Given the description of an element on the screen output the (x, y) to click on. 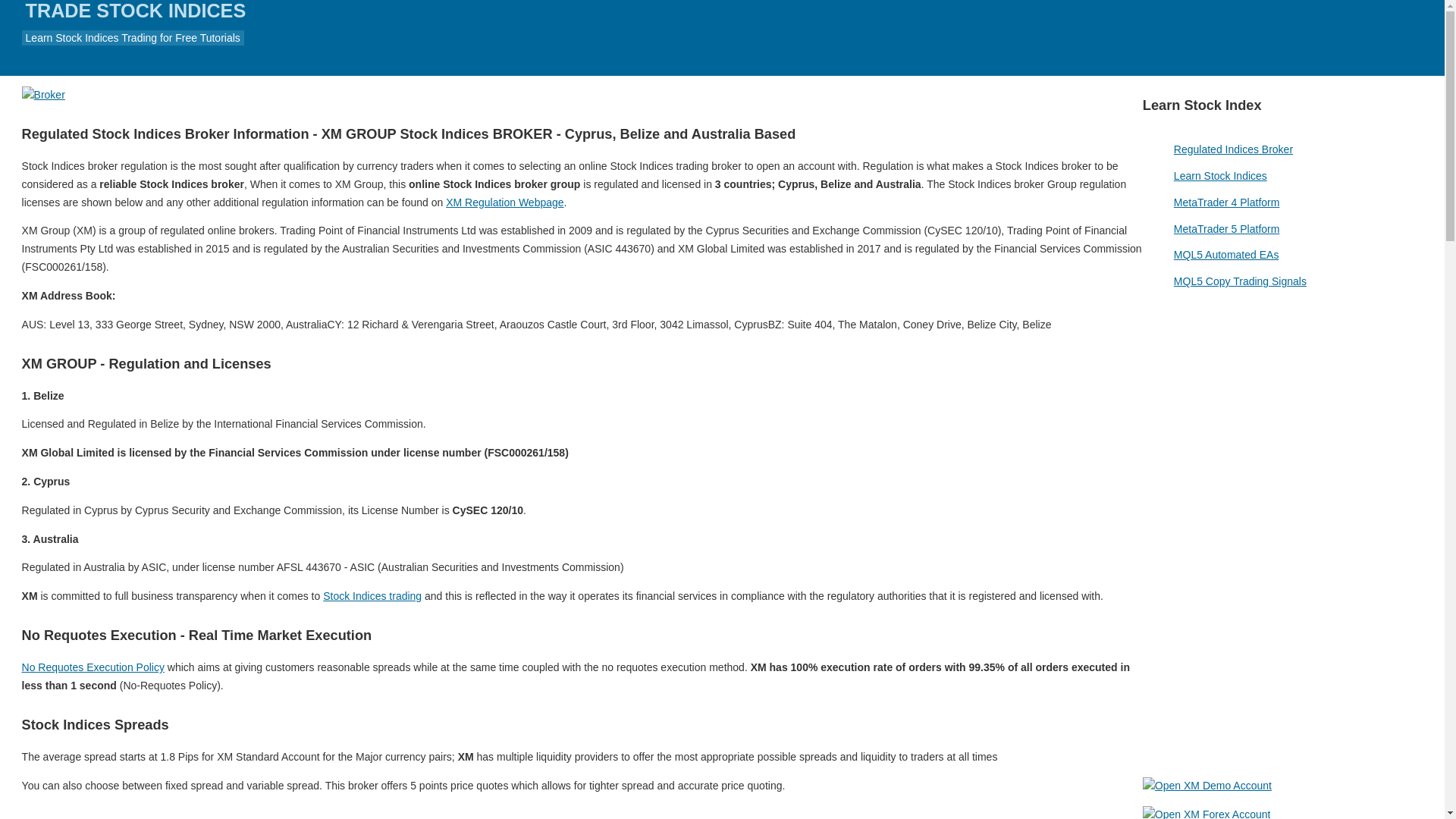
XM Regulation Webpage (504, 202)
Regulated Indices Broker (1232, 149)
MetaTrader 4 Platform (1226, 202)
MQL5 Copy Trading Signals (1239, 281)
Open Account (1282, 532)
MetaTrader 5 Platform (1226, 228)
MQL5 Automated EAs (1226, 254)
Open Account (1181, 38)
Learn Stock Indices (1219, 175)
No Requotes Execution Policy (92, 666)
Stock Indices trading (372, 595)
